Given the description of an element on the screen output the (x, y) to click on. 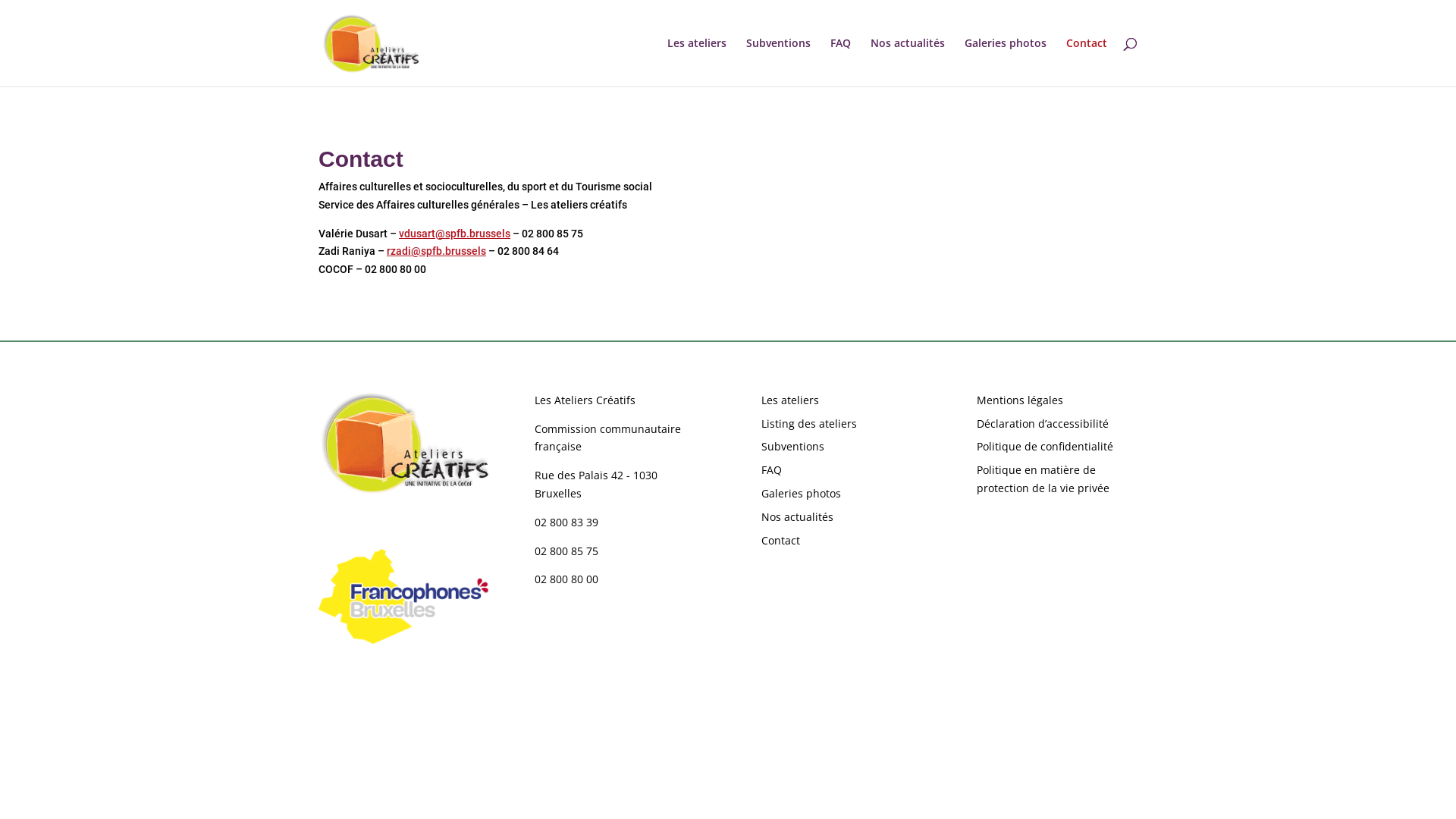
Contact Element type: text (780, 540)
rzadi@spfb.brussels Element type: text (436, 250)
Subventions Element type: text (792, 446)
Listing des ateliers Element type: text (808, 423)
FAQ Element type: text (771, 469)
Subventions Element type: text (778, 61)
Les ateliers Element type: text (790, 399)
Galeries photos Element type: text (1005, 61)
FAQ Element type: text (840, 61)
Contact Element type: text (1086, 61)
Galeries photos Element type: text (800, 493)
vdusart@spfb.brussels Element type: text (454, 233)
Les ateliers Element type: text (696, 61)
